Given the description of an element on the screen output the (x, y) to click on. 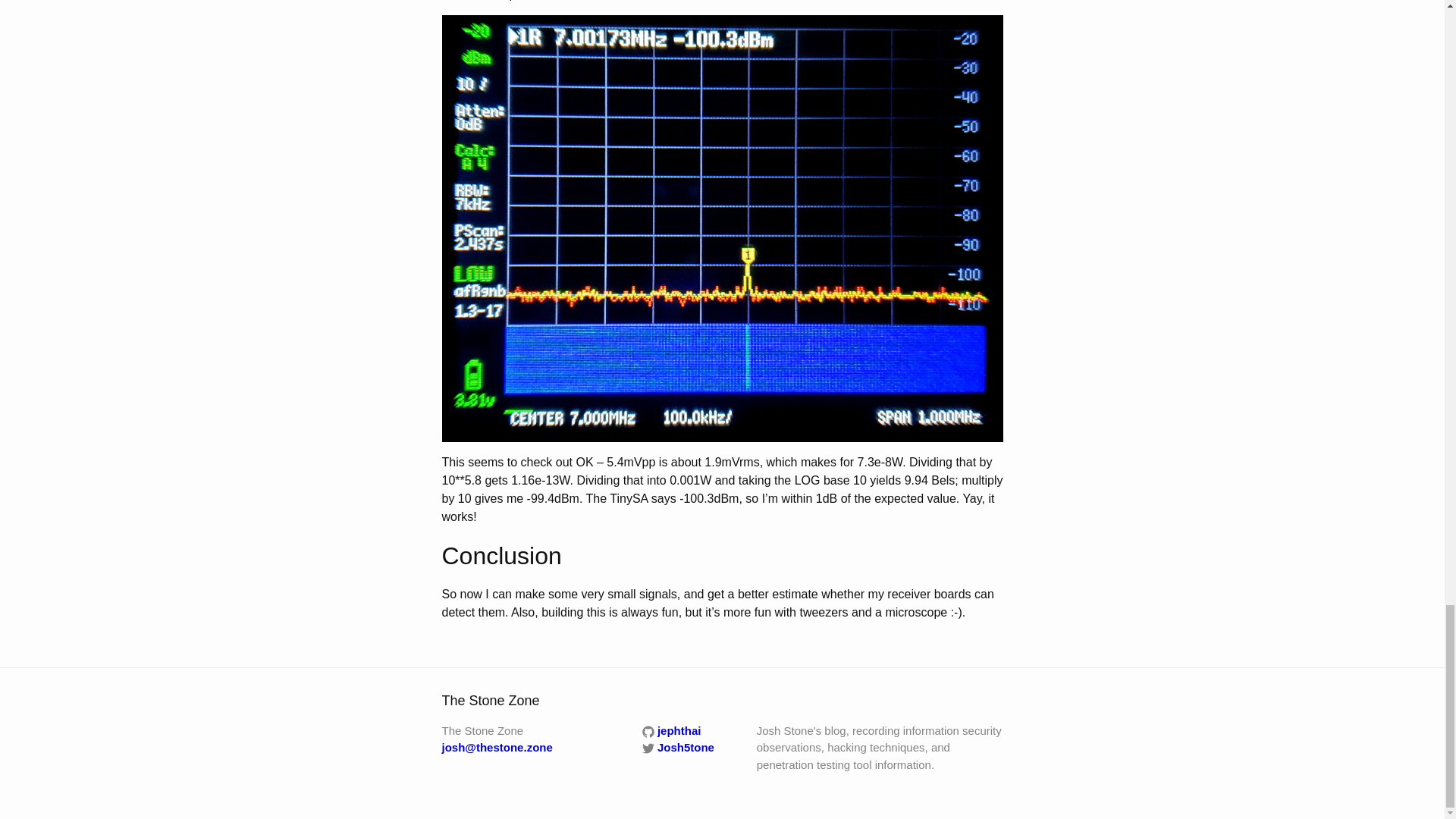
Josh5tone (678, 747)
jephthai (671, 730)
